Given the description of an element on the screen output the (x, y) to click on. 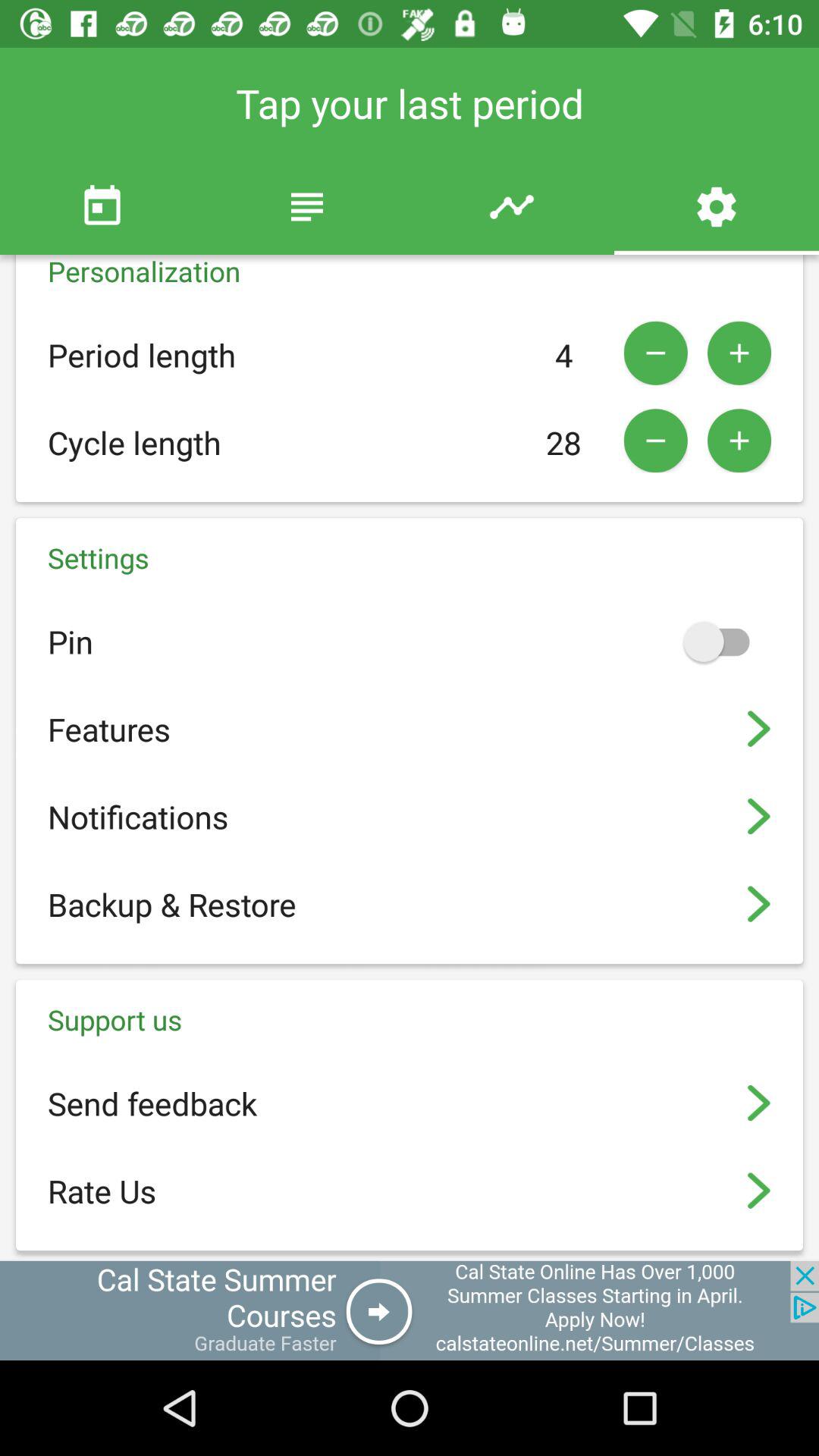
opens advertisement (409, 1310)
